Given the description of an element on the screen output the (x, y) to click on. 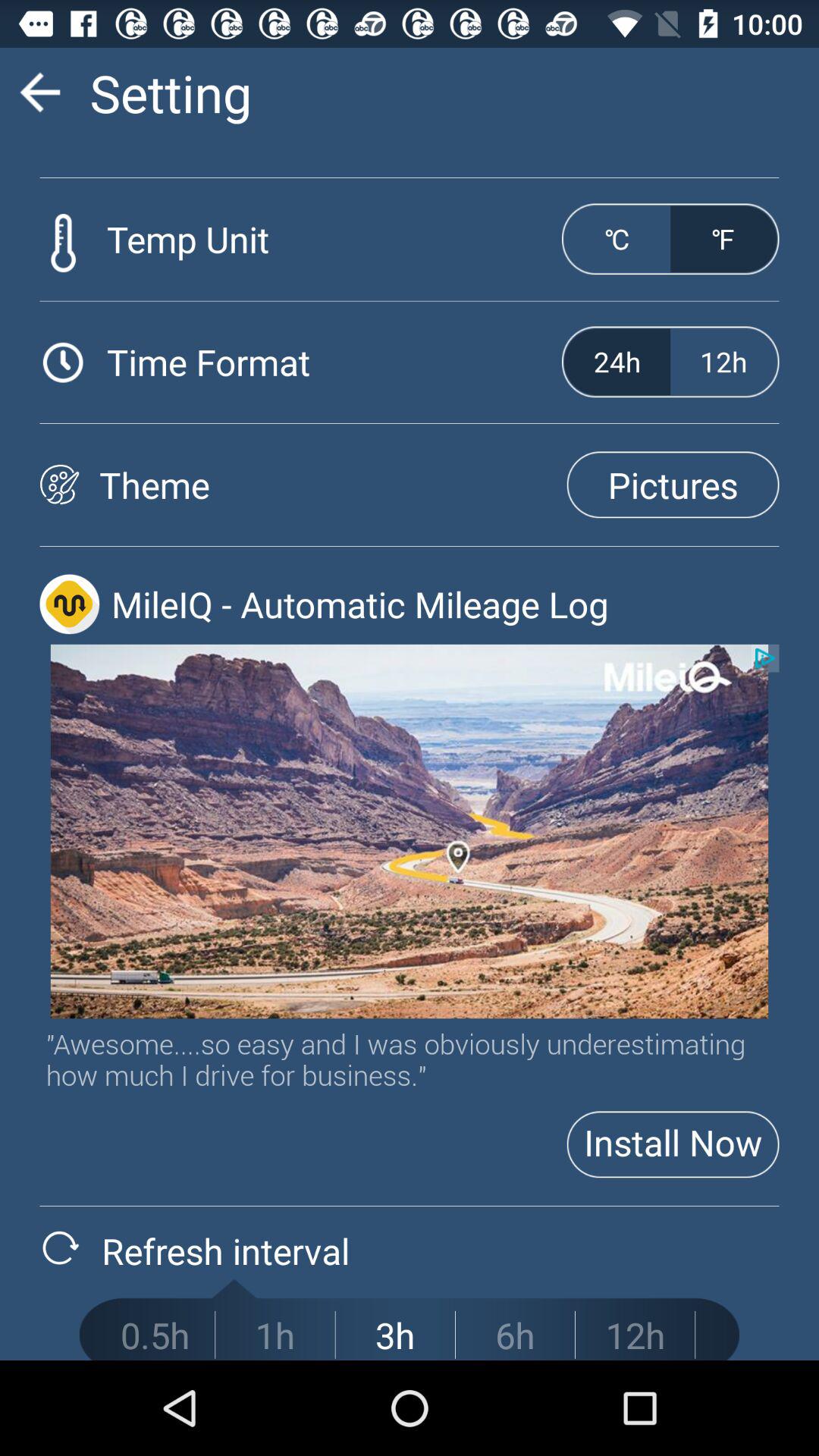
turn on the app below the refresh interval icon (274, 1334)
